Given the description of an element on the screen output the (x, y) to click on. 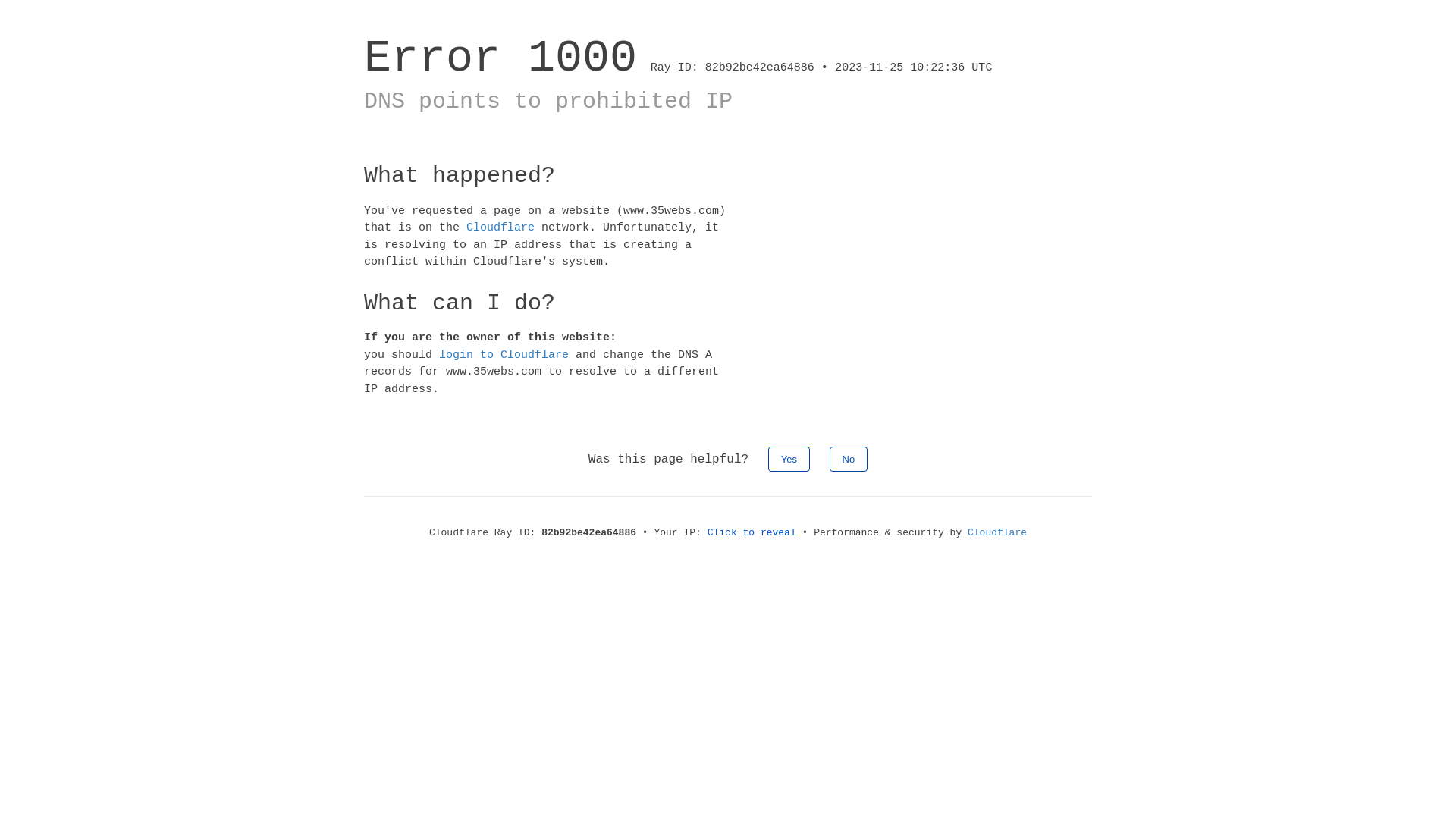
No Element type: text (848, 458)
Click to reveal Element type: text (751, 532)
Yes Element type: text (788, 458)
login to Cloudflare Element type: text (503, 354)
Cloudflare Element type: text (996, 532)
Cloudflare Element type: text (500, 227)
